Given the description of an element on the screen output the (x, y) to click on. 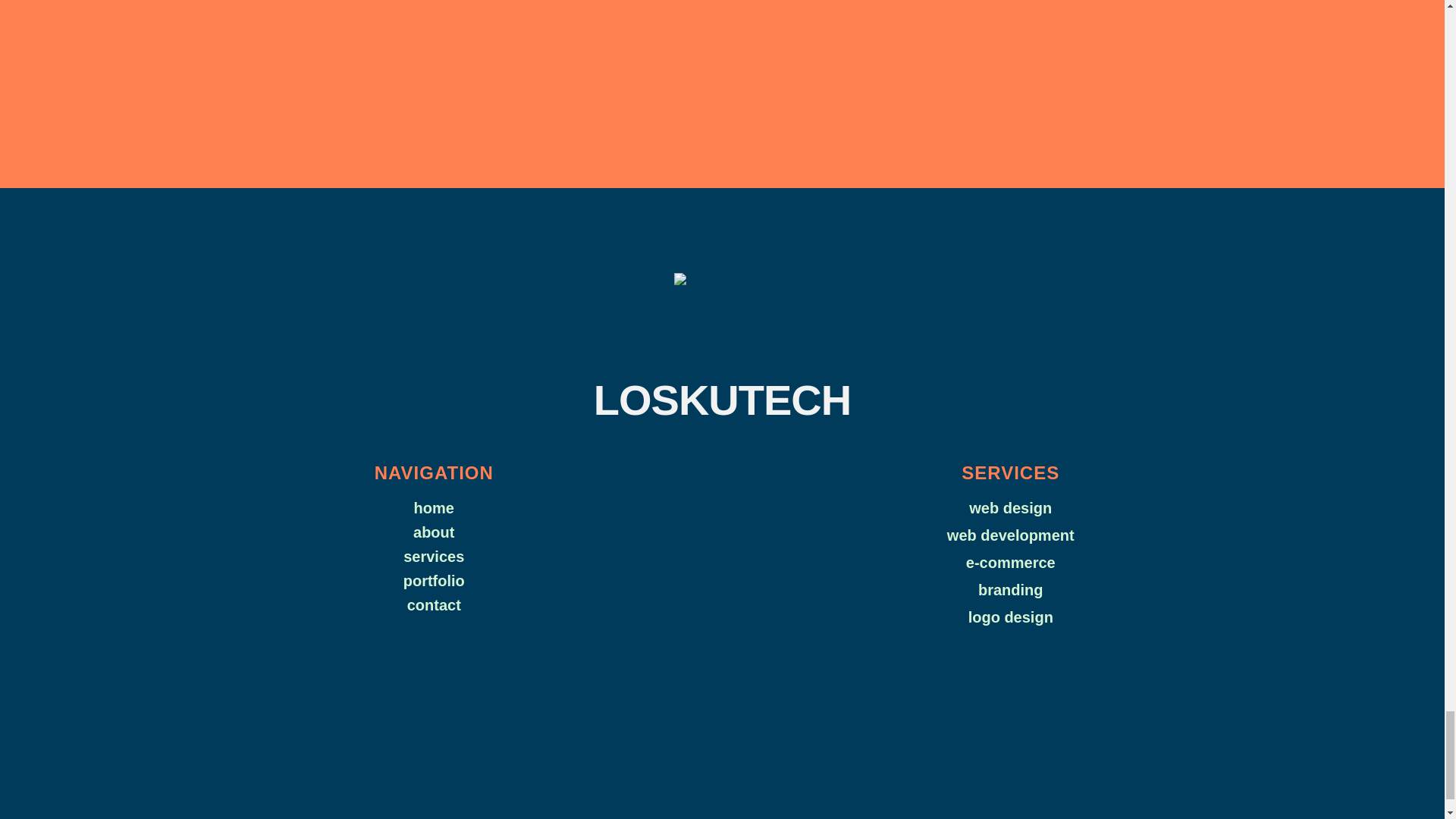
about (433, 531)
home (433, 507)
services (433, 556)
contact (434, 604)
portfolio (433, 580)
